Given the description of an element on the screen output the (x, y) to click on. 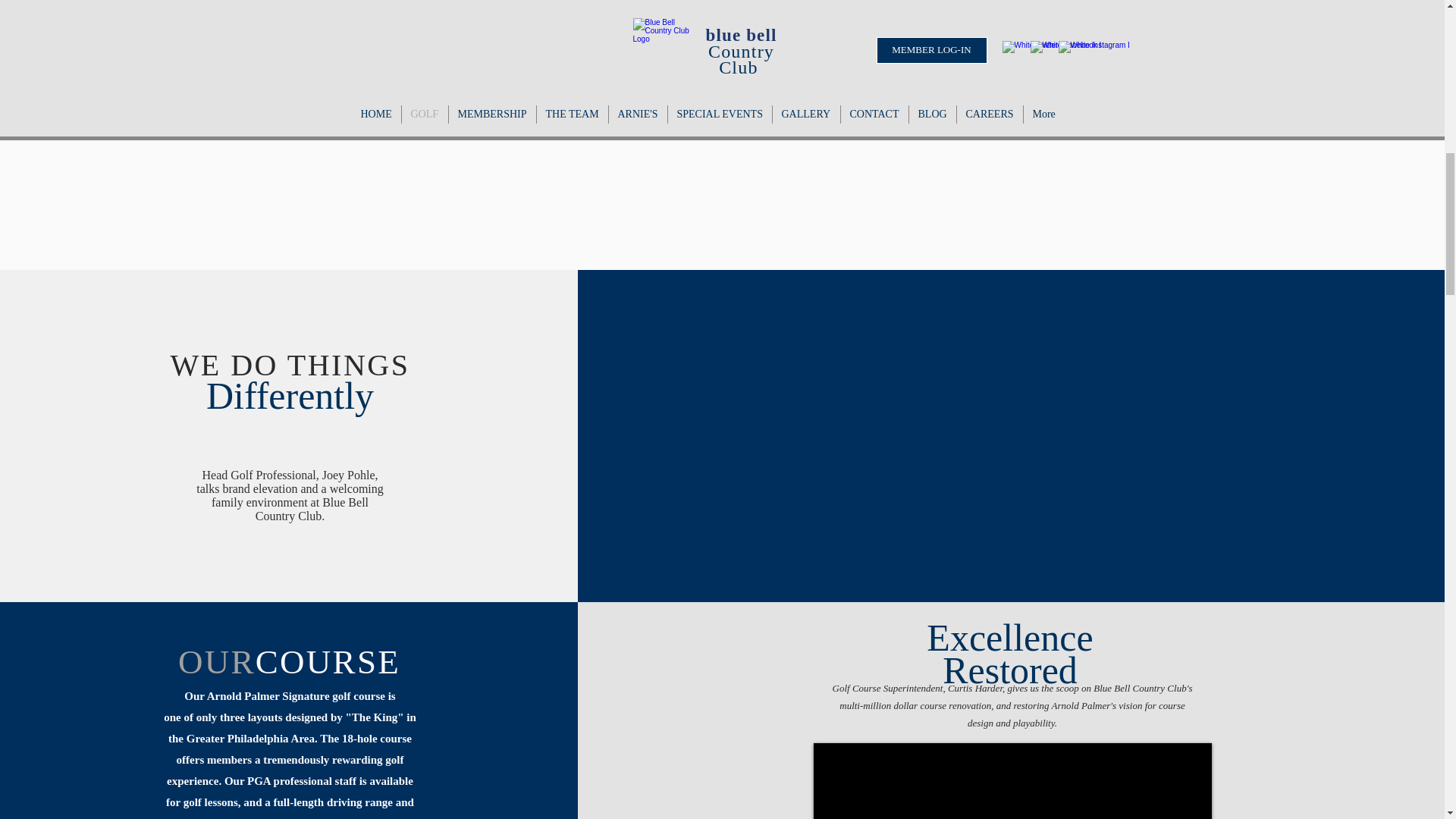
External YouTube (1011, 780)
External YouTube (1010, 435)
Learn More (721, 109)
